Given the description of an element on the screen output the (x, y) to click on. 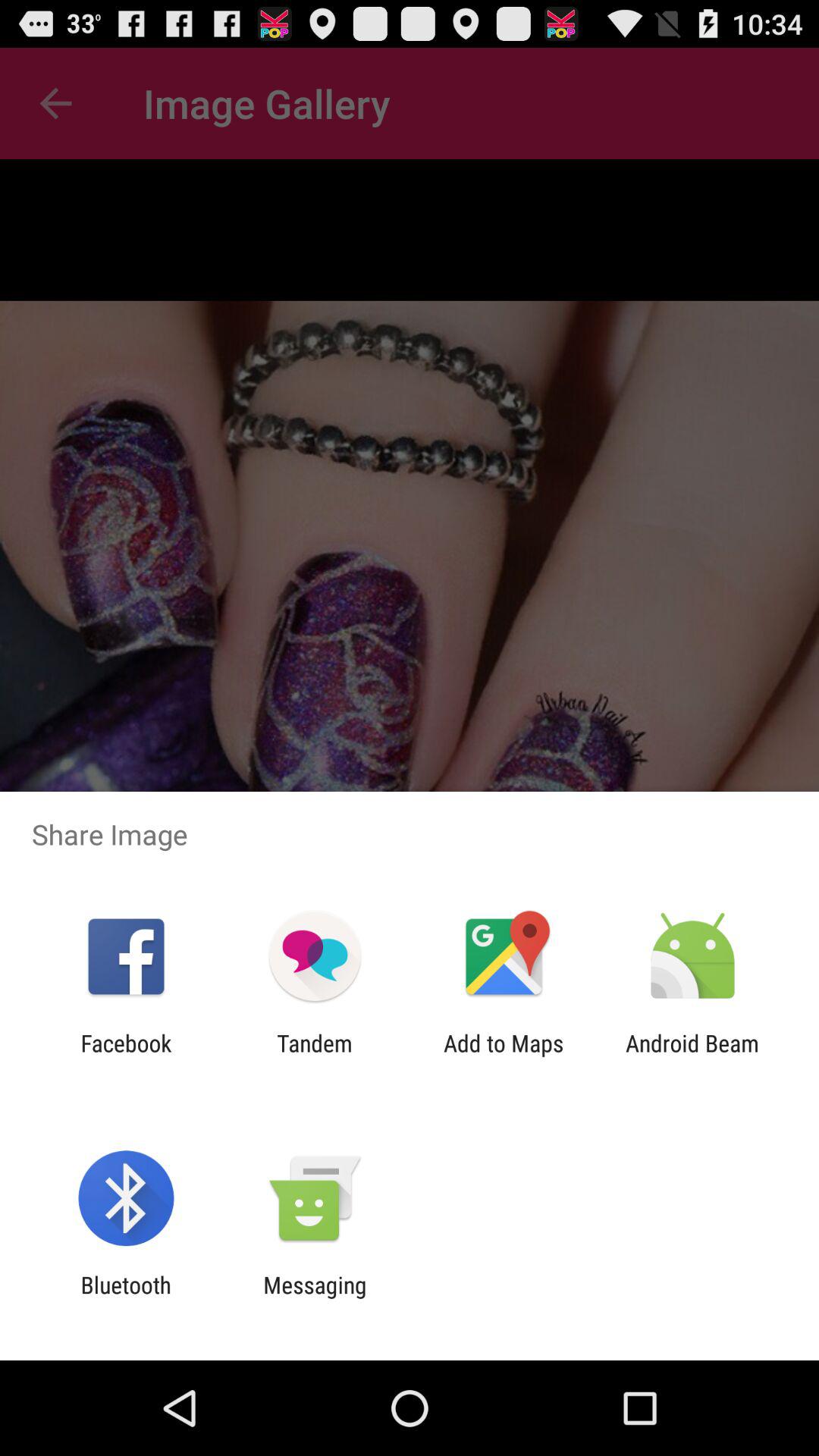
choose messaging app (314, 1298)
